Given the description of an element on the screen output the (x, y) to click on. 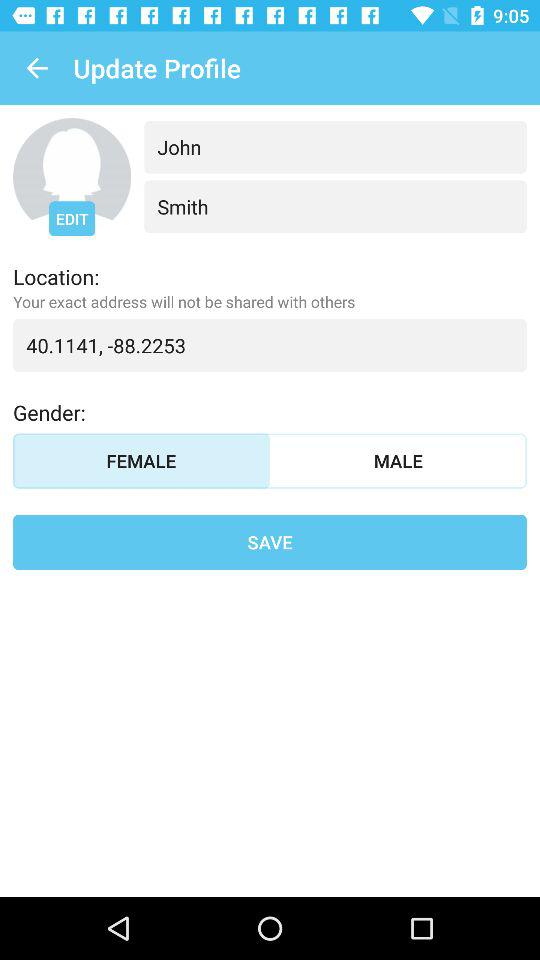
press the item next to the smith icon (72, 218)
